Given the description of an element on the screen output the (x, y) to click on. 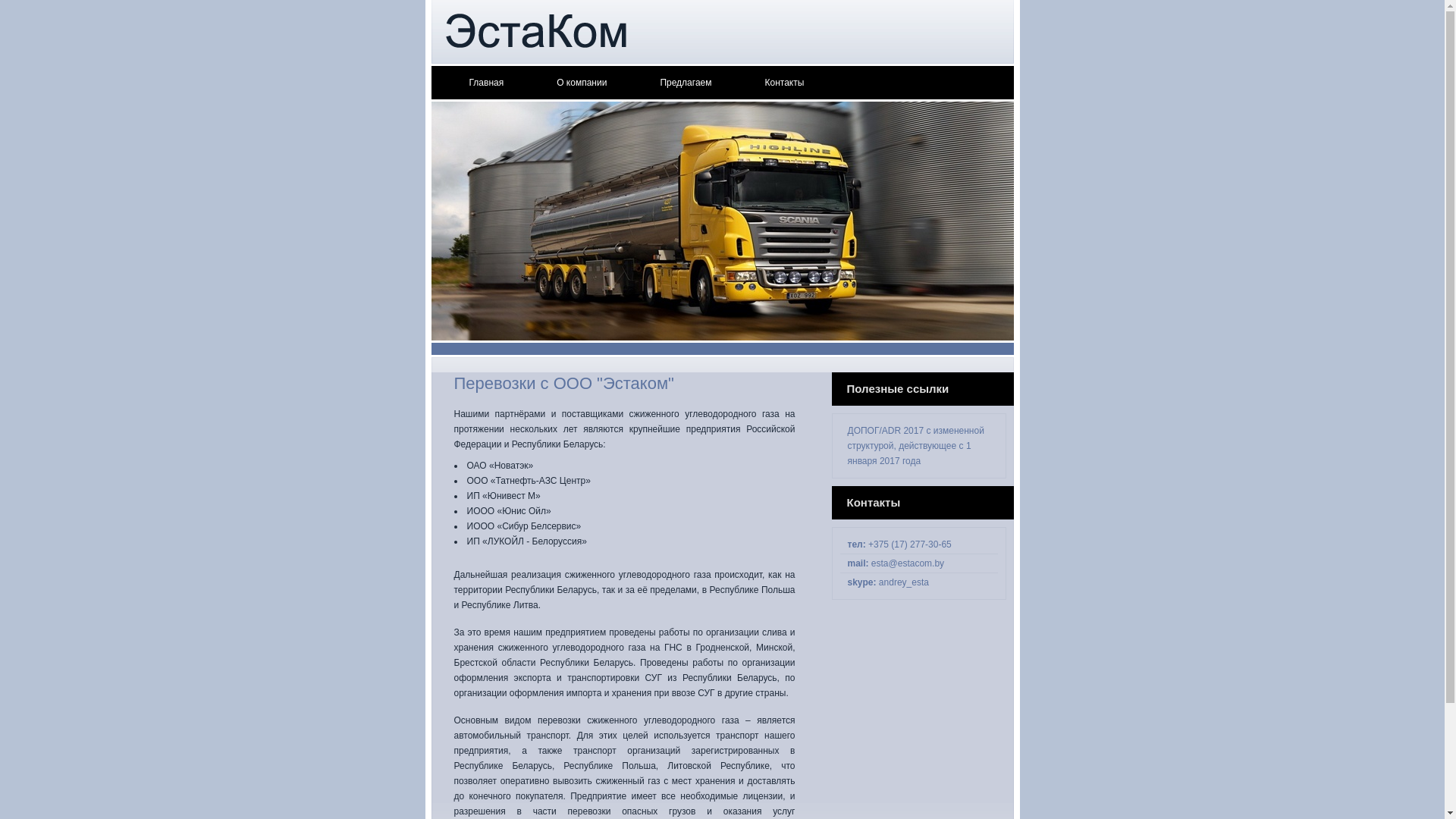
skype: andrey_esta Element type: text (887, 582)
mail: esta@estacom.by Element type: text (895, 563)
